Given the description of an element on the screen output the (x, y) to click on. 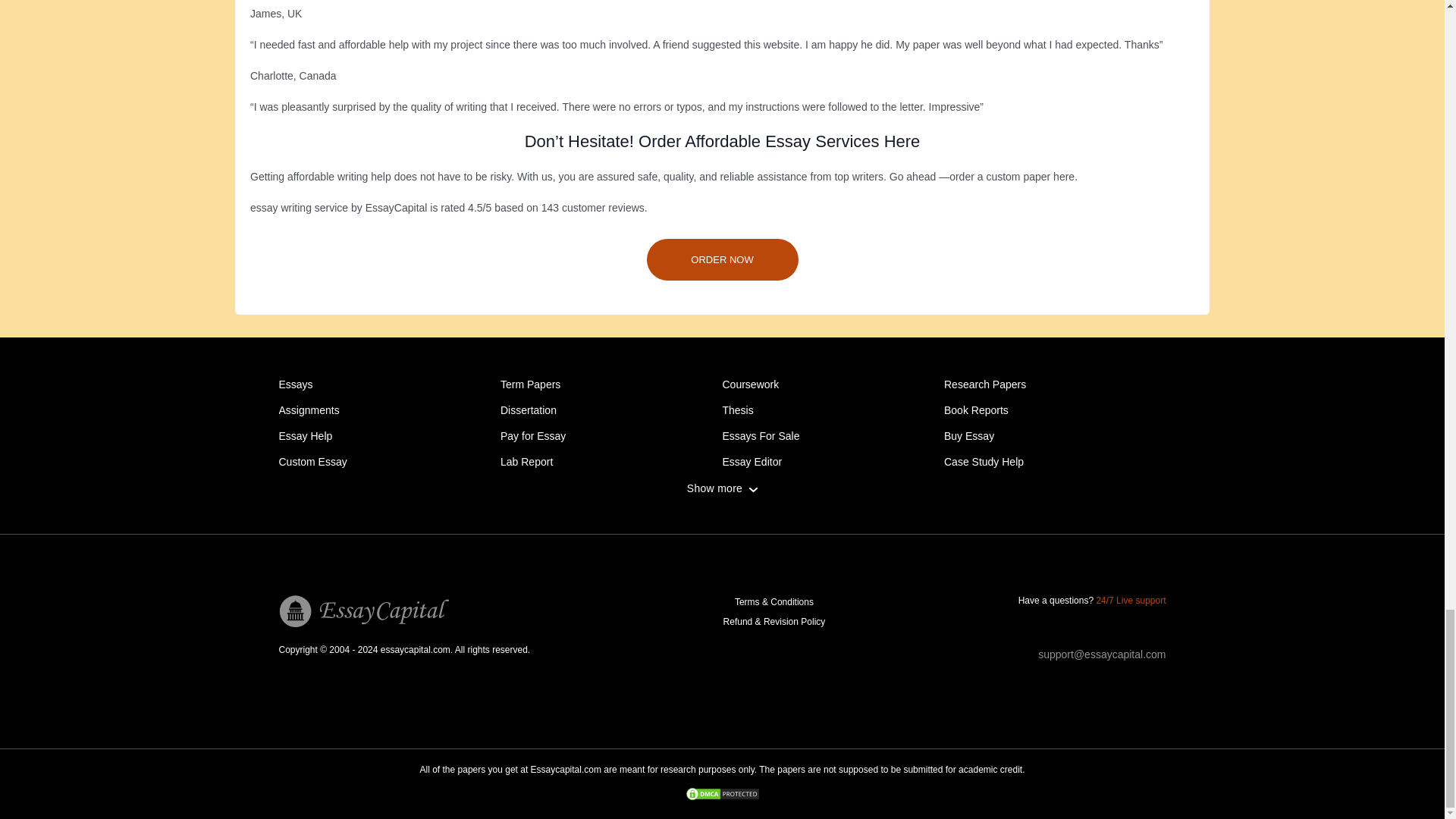
Term Papers (530, 384)
Essay Help (306, 435)
Book Reports (976, 410)
ORDER NOW (721, 259)
Essays For Sale (760, 435)
Dissertation (528, 410)
Coursework (750, 384)
Pay for Essay (533, 435)
DMCA.com Protection Status (722, 794)
Assignments (309, 410)
